Given the description of an element on the screen output the (x, y) to click on. 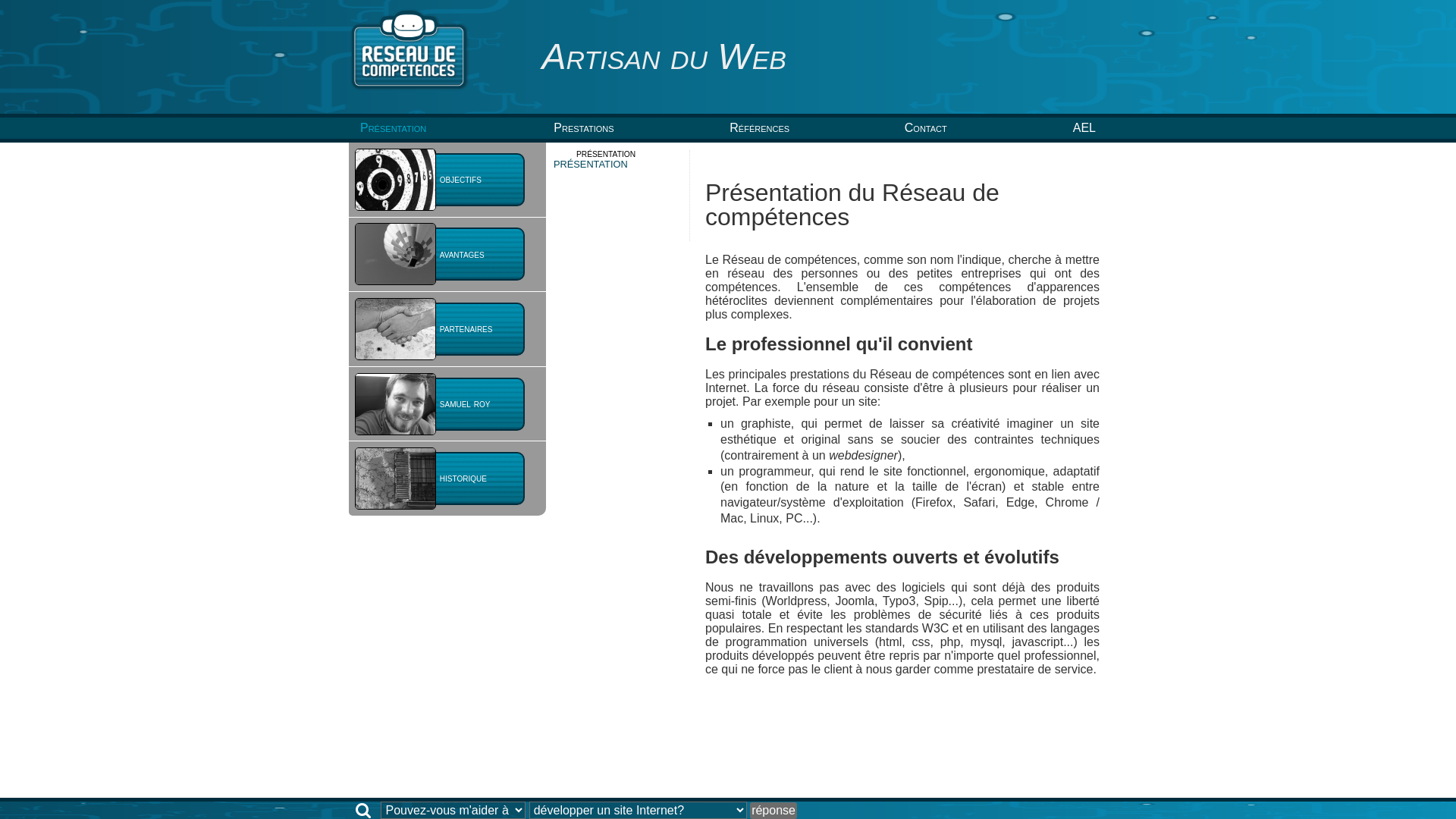
Prestations Element type: text (583, 127)
Contact Element type: text (925, 127)
historique Element type: text (447, 478)
partenaires Element type: text (447, 328)
samuel roy Element type: text (447, 404)
AEL Element type: text (1084, 127)
objectifs Element type: text (447, 179)
avantages Element type: text (447, 254)
